Given the description of an element on the screen output the (x, y) to click on. 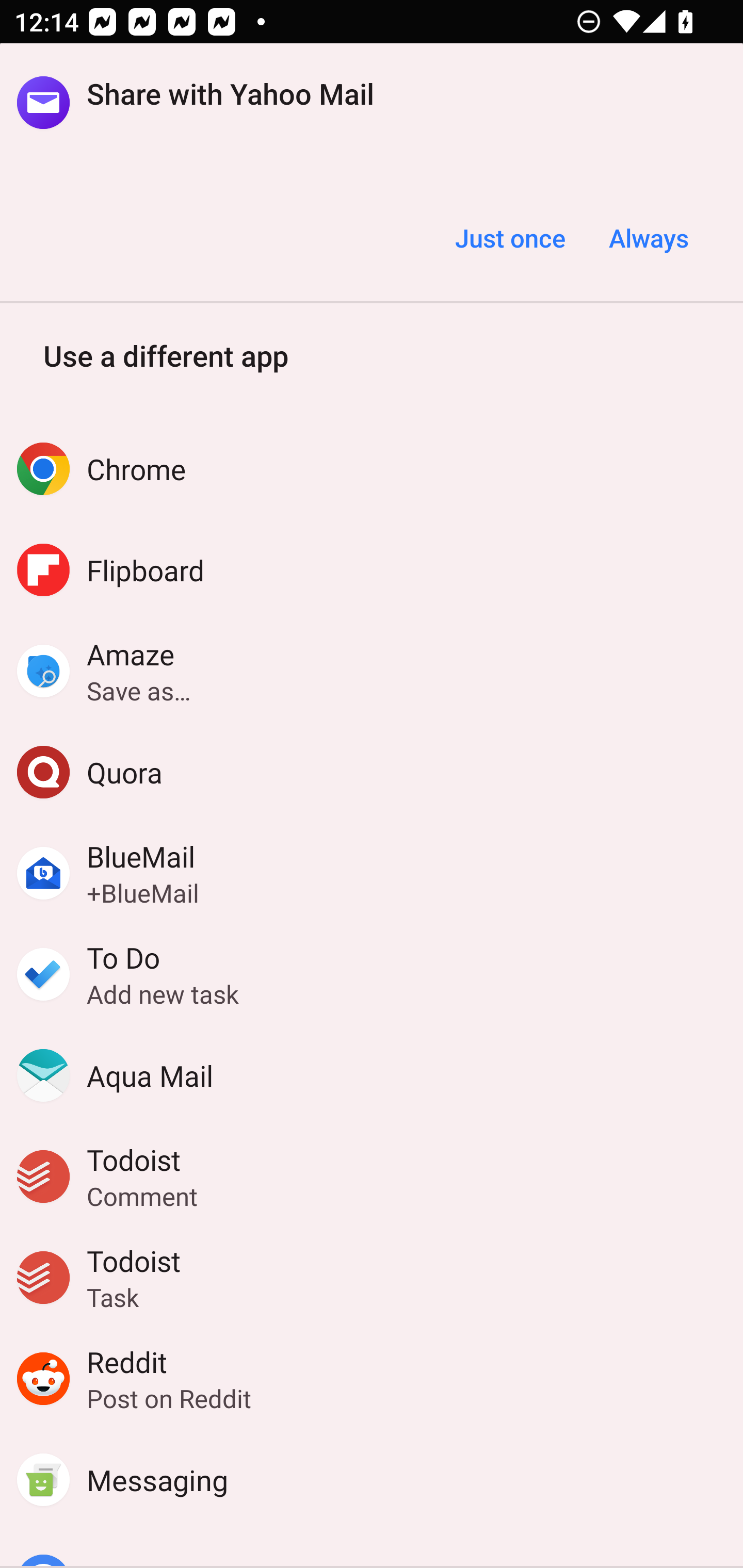
Just once (509, 237)
Always (648, 237)
Chrome (371, 468)
Flipboard (371, 569)
Amaze Save as… (371, 670)
Quora (371, 772)
BlueMail +BlueMail (371, 873)
To Do Add new task (371, 974)
Aqua Mail (371, 1075)
Todoist Comment (371, 1176)
Todoist Task (371, 1277)
Reddit Post on Reddit (371, 1379)
Messaging (371, 1480)
